Given the description of an element on the screen output the (x, y) to click on. 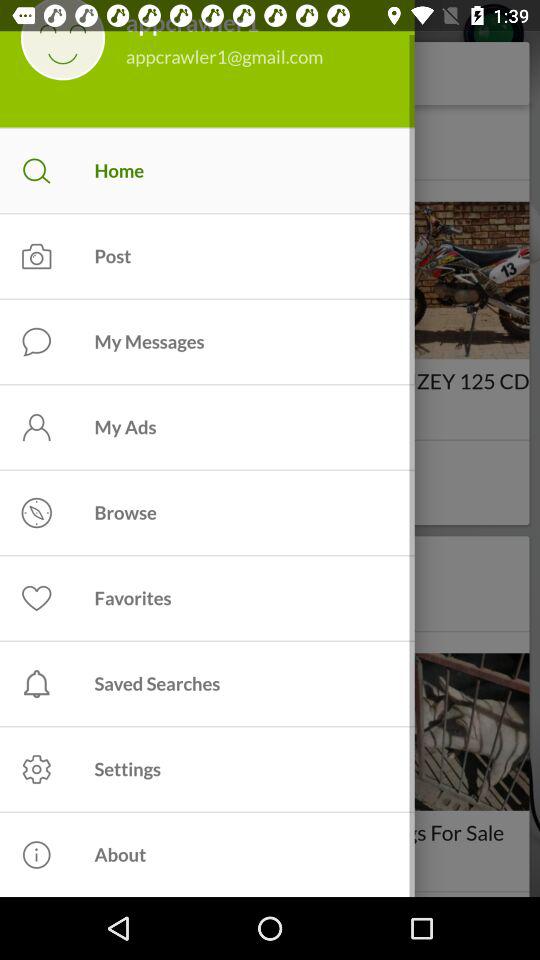
click on icon left to browse (36, 512)
